Given the description of an element on the screen output the (x, y) to click on. 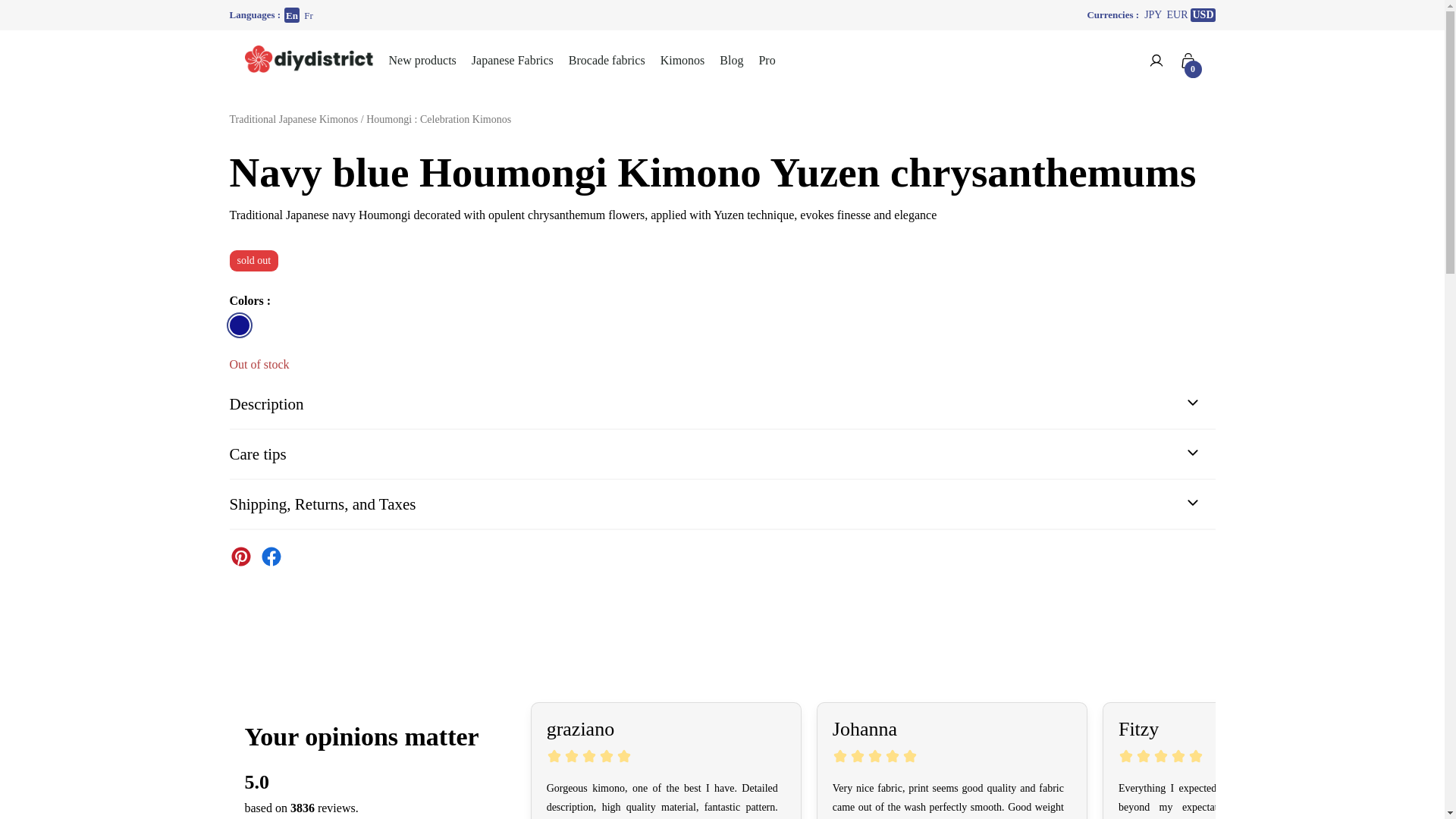
EUR (1176, 15)
Fr (308, 14)
New products (421, 60)
Kimonos (682, 60)
USD (1202, 15)
Brocade fabrics (607, 60)
Japanese Fabrics (512, 60)
En (291, 14)
JPY (1152, 15)
